Given the description of an element on the screen output the (x, y) to click on. 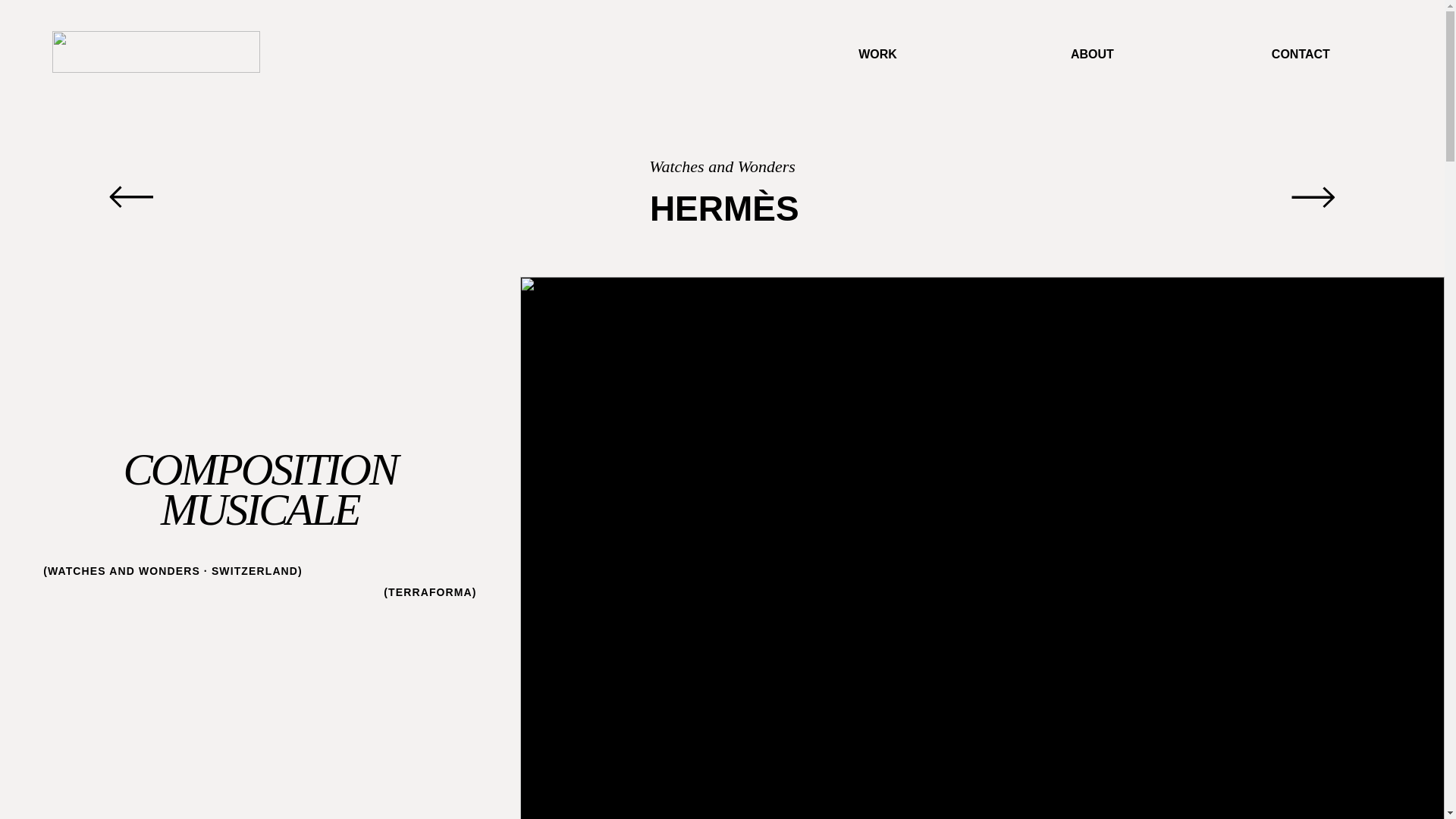
WORK (799, 53)
CONTACT (1232, 53)
ABOUT (1016, 53)
